Given the description of an element on the screen output the (x, y) to click on. 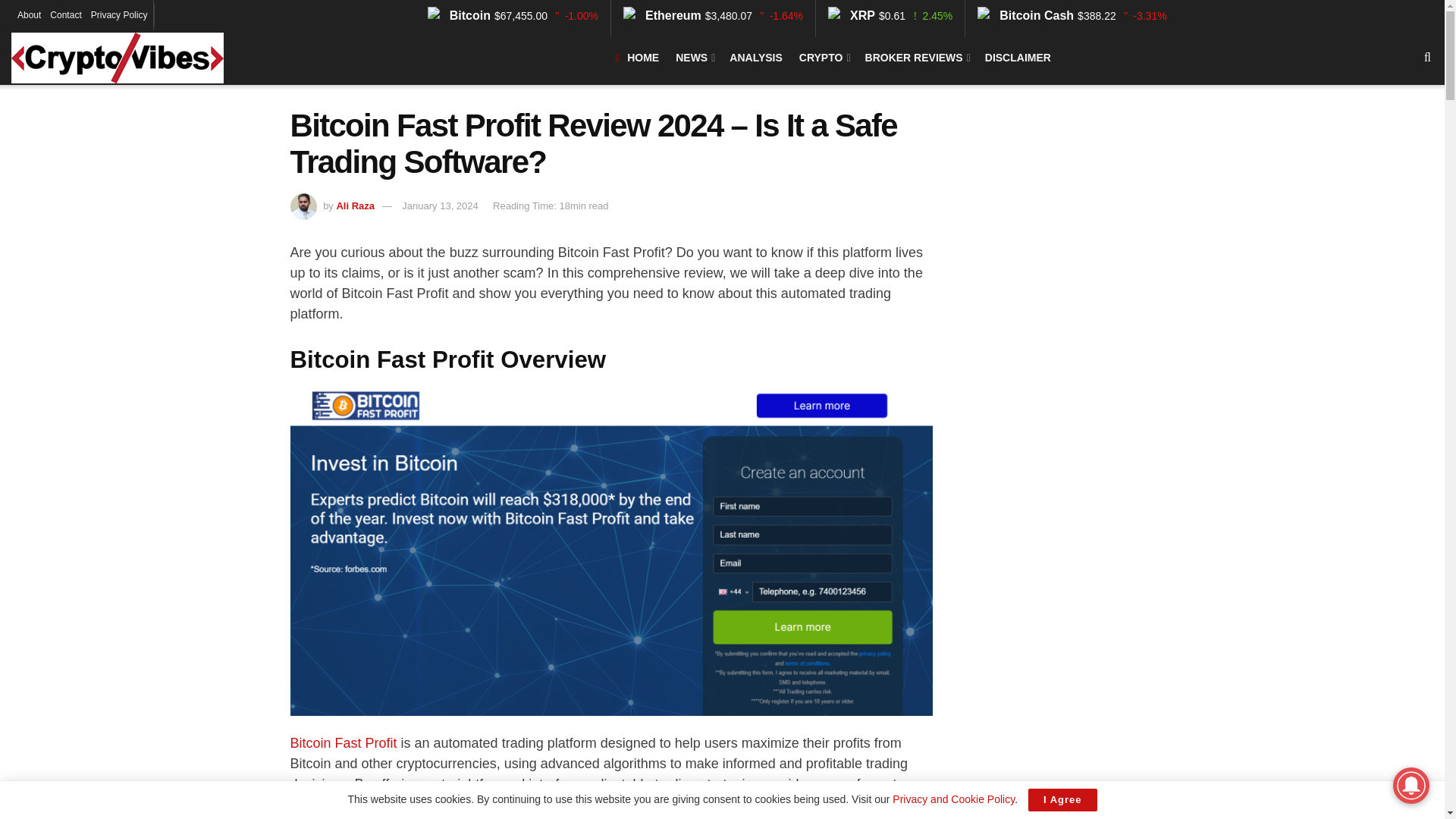
Ethereum (663, 14)
CRYPTO (823, 57)
ANALYSIS (756, 57)
Contact (65, 15)
BROKER REVIEWS (916, 57)
Bitcoin Cash (1026, 14)
Ethereum (663, 14)
XRP (853, 14)
Bitcoin (461, 14)
Bitcoin Cash (1026, 14)
Bitcoin (461, 14)
XRP (853, 14)
Privacy Policy (119, 15)
